Given the description of an element on the screen output the (x, y) to click on. 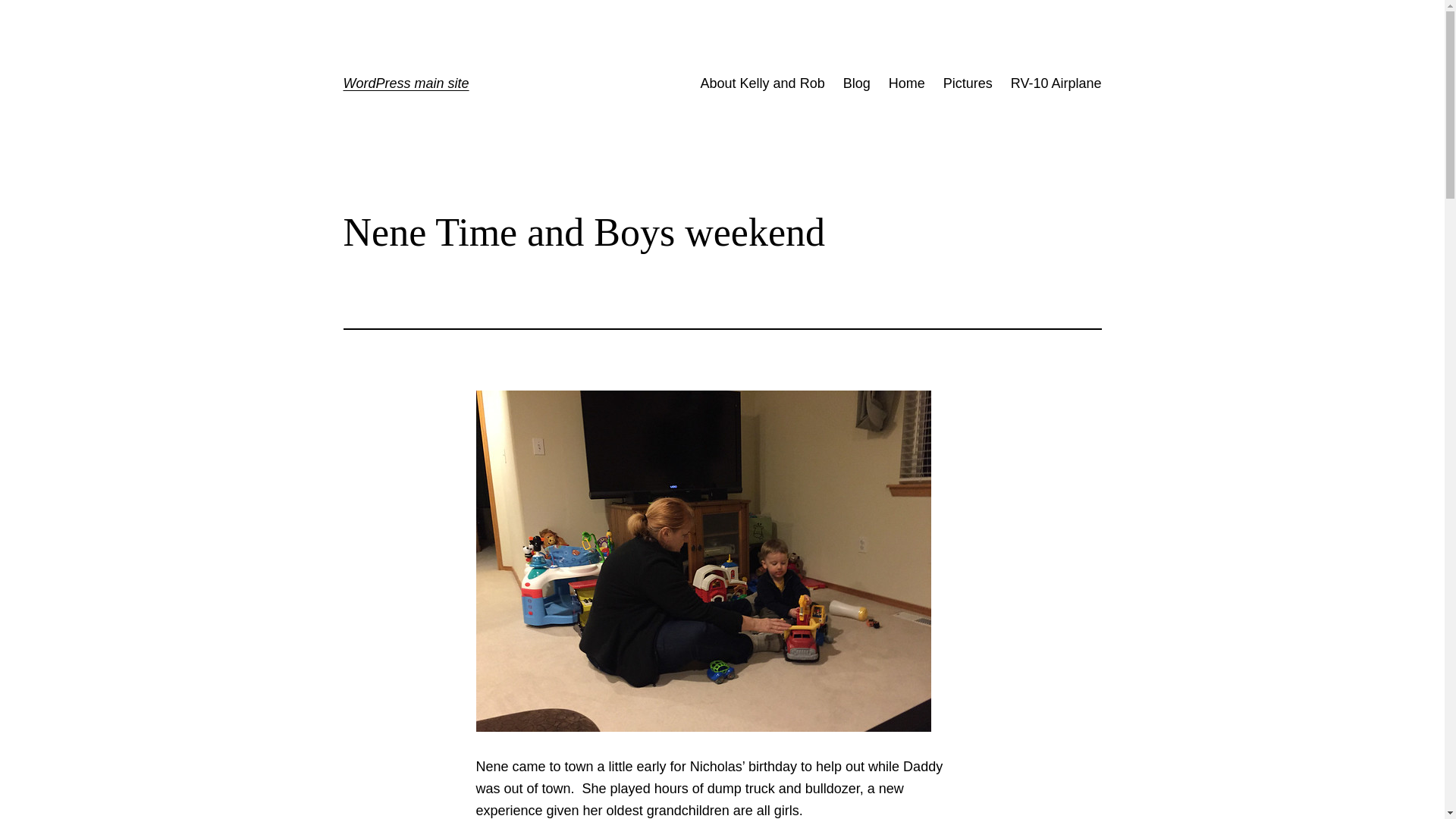
Pictures (967, 83)
Blog (856, 83)
About Kelly and Rob (762, 83)
WordPress main site (405, 83)
Home (906, 83)
RV-10 Airplane (1056, 83)
